Given the description of an element on the screen output the (x, y) to click on. 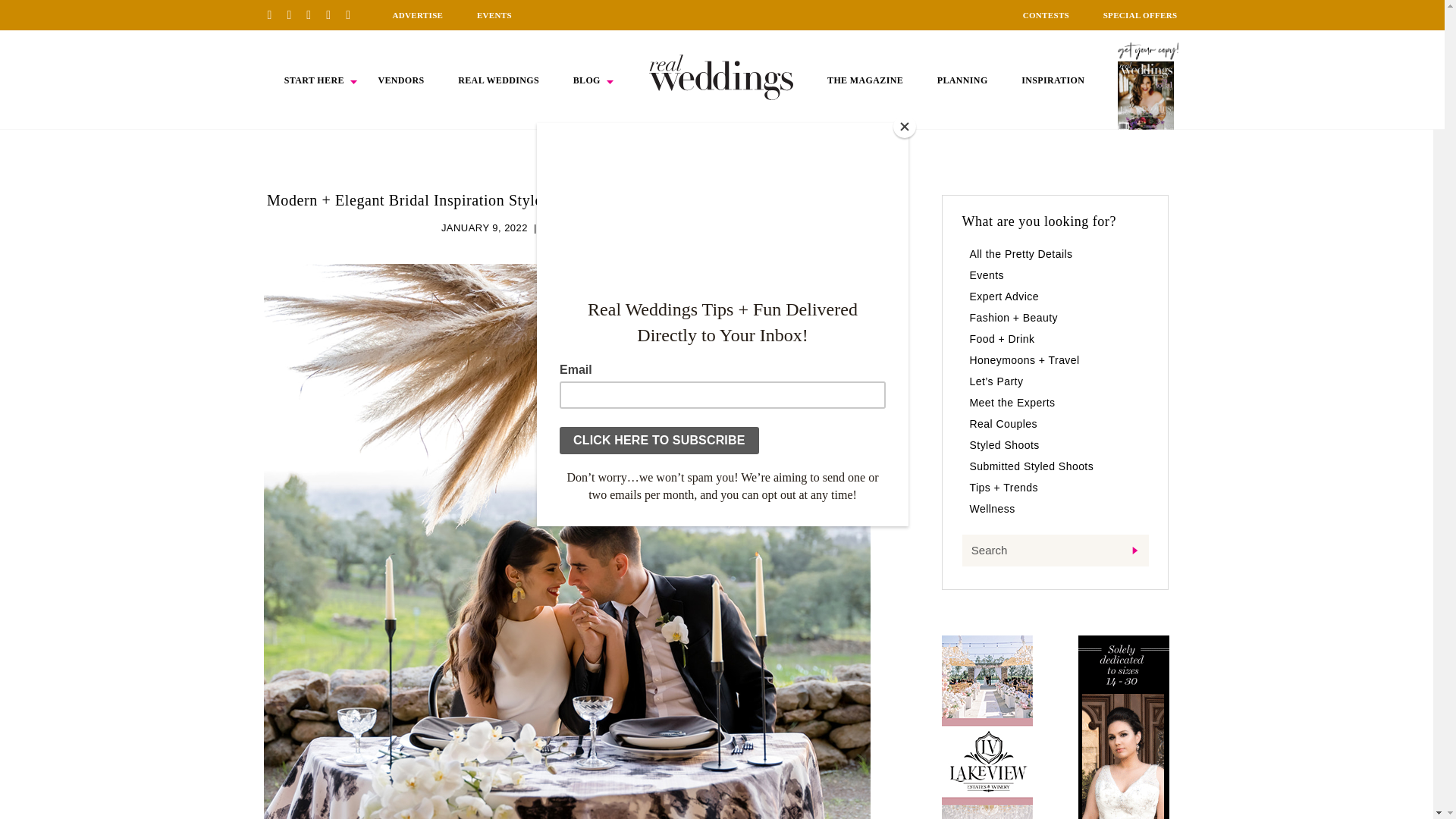
Twitter (334, 14)
Pinterest (274, 14)
PLANNING (962, 80)
THE MAGAZINE (864, 80)
VENDORS (400, 80)
SUBMITTED STYLED SHOOTS (618, 227)
CONTESTS (1045, 14)
REAL WEDDINGS (498, 80)
START HERE (313, 80)
EVENTS (494, 14)
ADVERTISE (416, 14)
SPECIAL OFFERS (1140, 14)
INSPIRATION (1053, 80)
HOME (721, 76)
YouTube (353, 14)
